Given the description of an element on the screen output the (x, y) to click on. 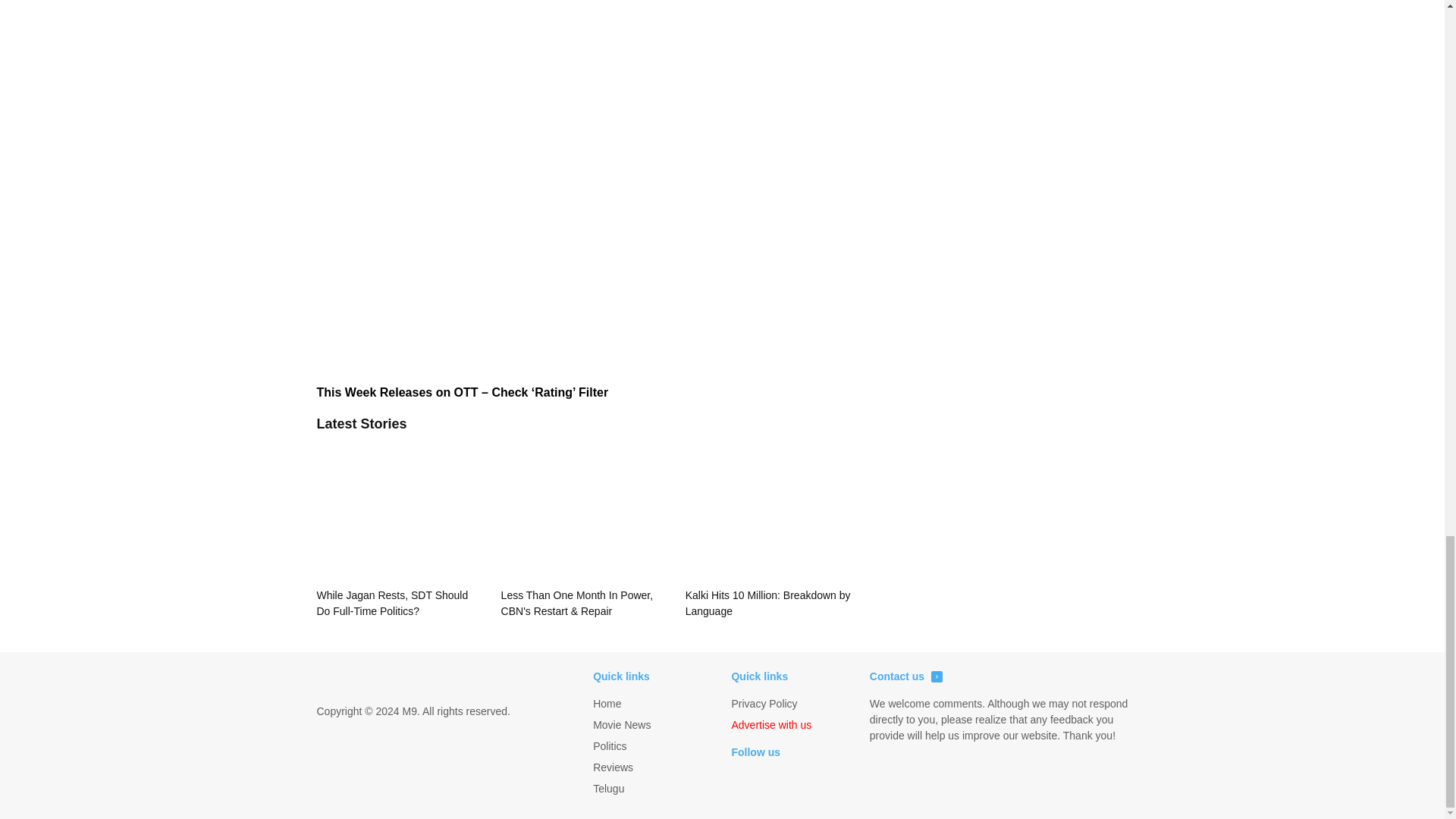
While Jagan Rests, SDT Should Do Full-Time Politics? (400, 529)
Kalki Hits 10 Million: Breakdown by Language (768, 529)
